Given the description of an element on the screen output the (x, y) to click on. 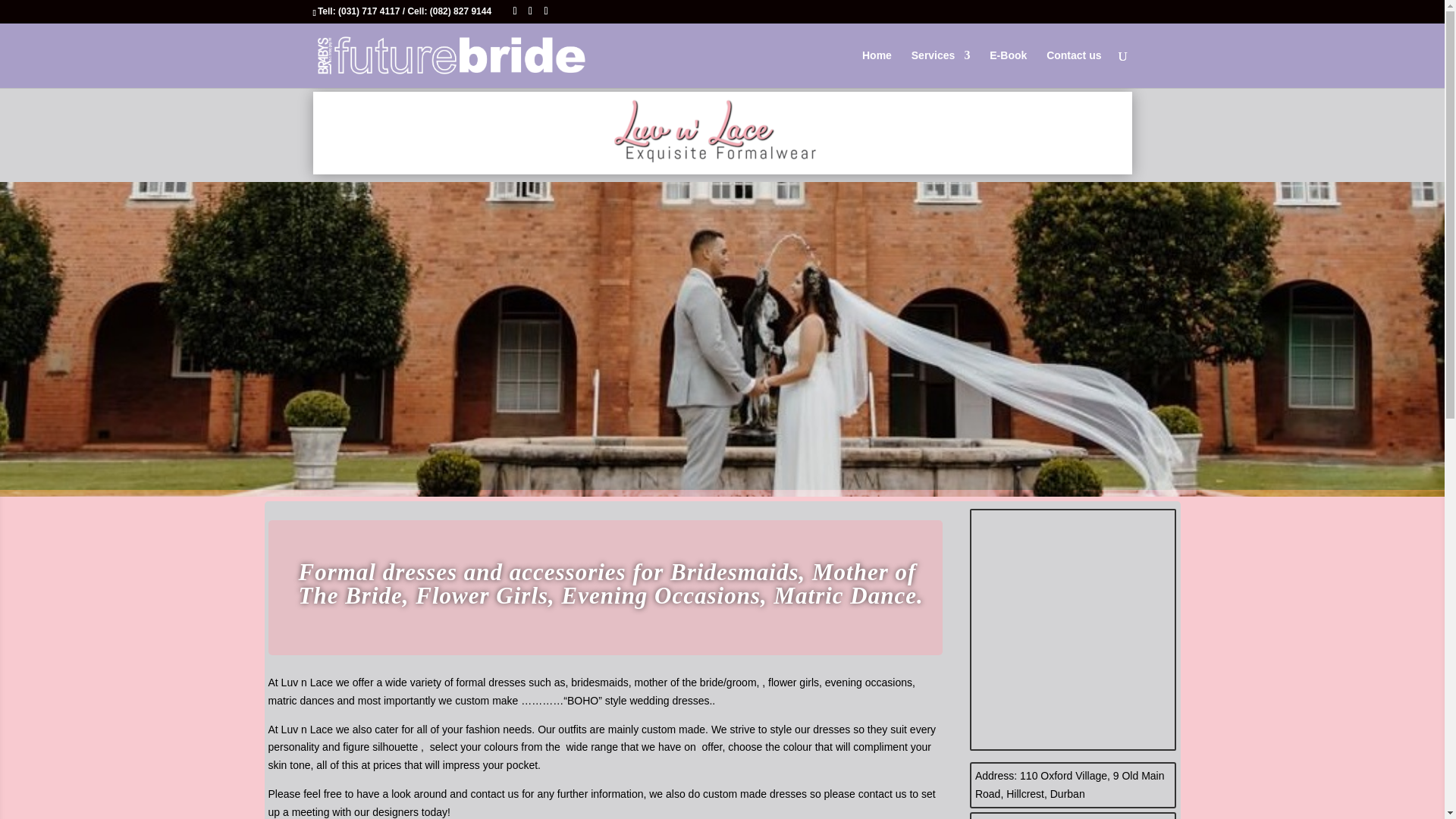
E-Book (1008, 68)
Services (941, 68)
Contact us (1073, 68)
